Given the description of an element on the screen output the (x, y) to click on. 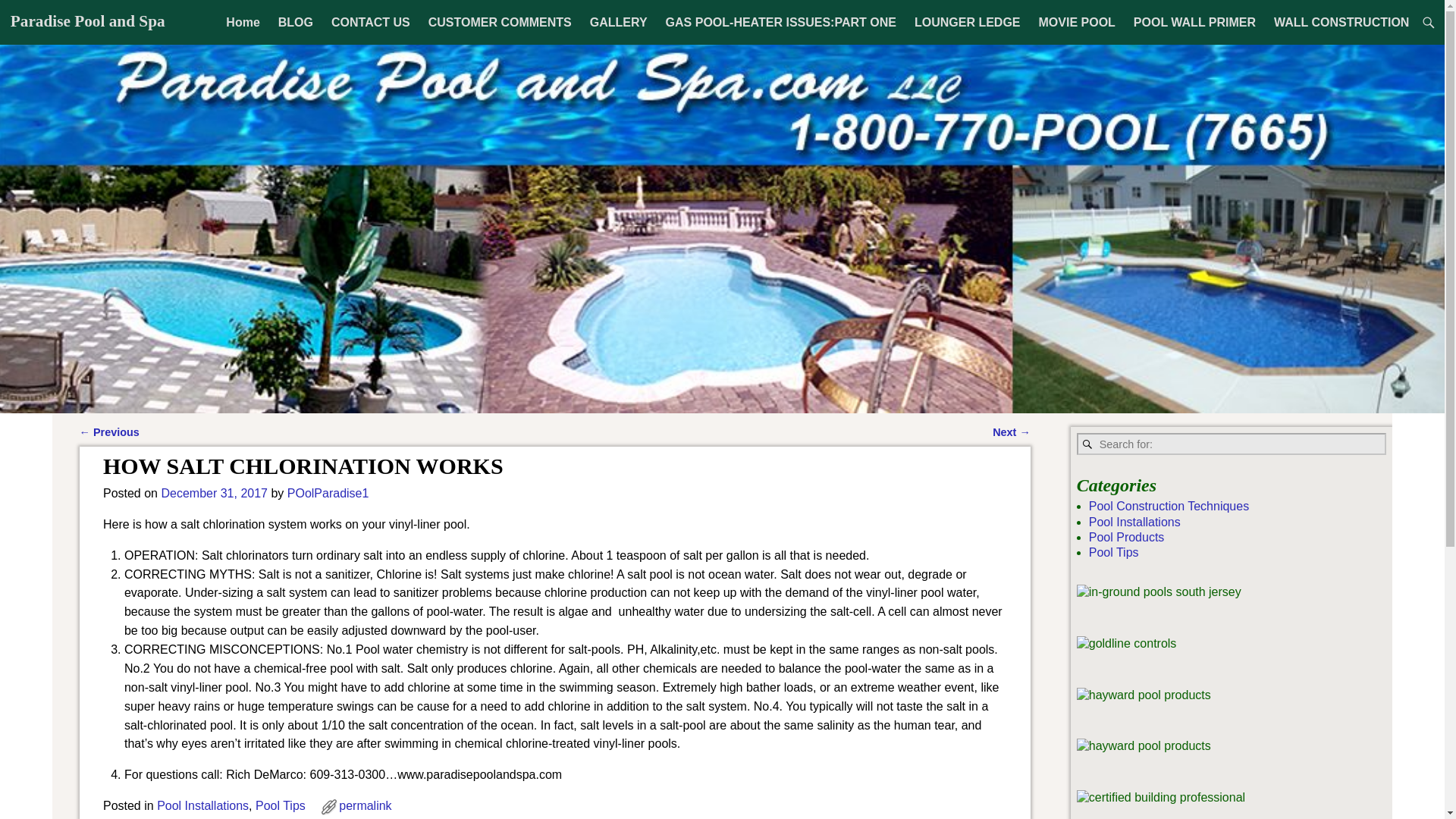
LOUNGER LEDGE (967, 22)
POolParadise1 (327, 492)
Pool Installations (202, 805)
Paradise Pool and Spa (87, 21)
Home (241, 22)
View all posts by POolParadise1 (327, 492)
Pool Tips (1113, 552)
WALL CONSTRUCTION (1341, 22)
Home (241, 22)
BLOG (295, 22)
Pool Installations (1134, 521)
CUSTOMER COMMENTS (499, 22)
Pool Construction Techniques (1169, 505)
permalink (365, 805)
December 31, 2017 (213, 492)
